Given the description of an element on the screen output the (x, y) to click on. 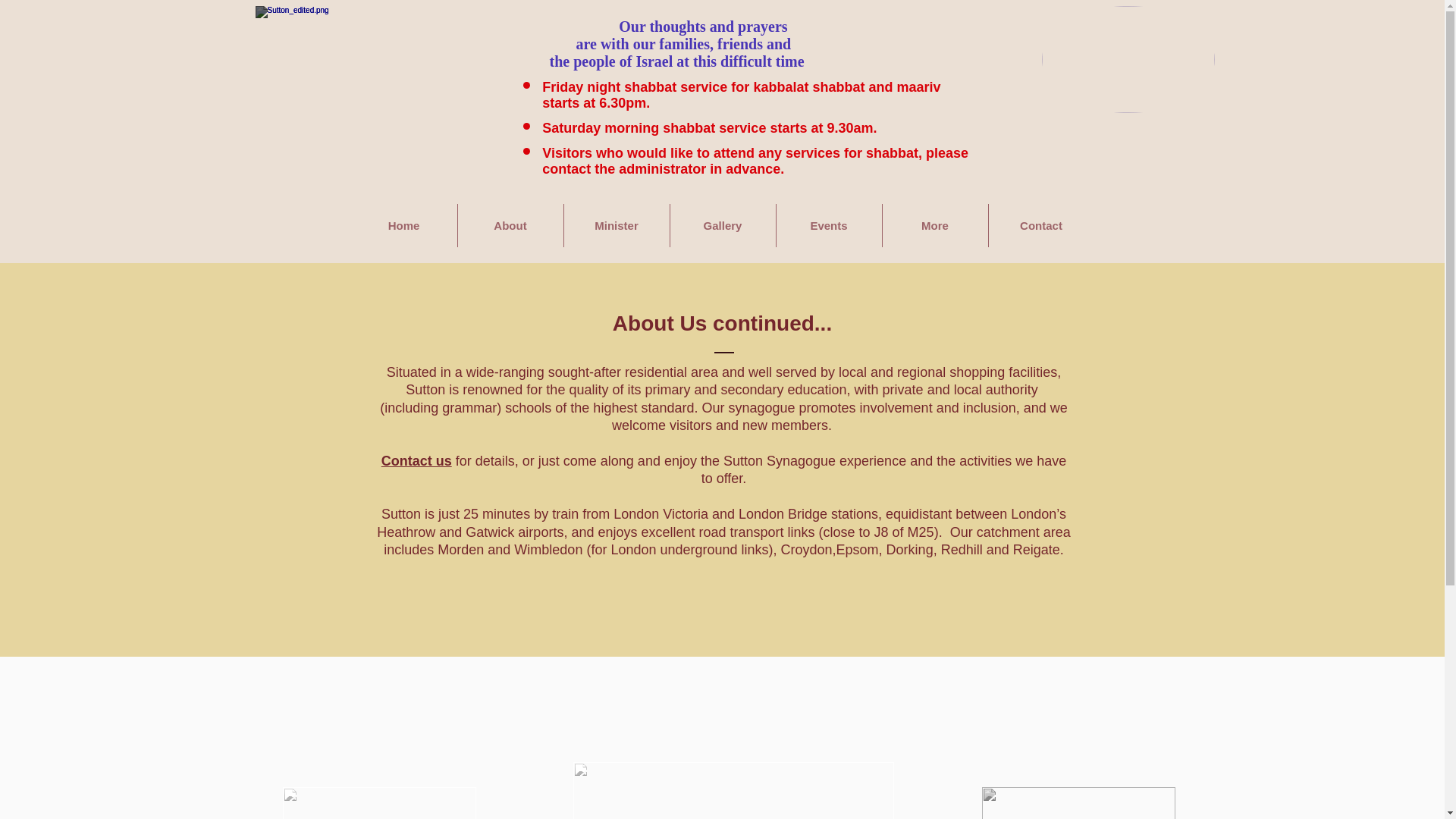
Minister (616, 225)
Home (403, 225)
Gallery (722, 225)
ark.jpg (379, 803)
About (510, 225)
More (935, 225)
Events (829, 225)
menorah1.jpg (1077, 803)
Contact (1041, 225)
Contact us (416, 460)
